Given the description of an element on the screen output the (x, y) to click on. 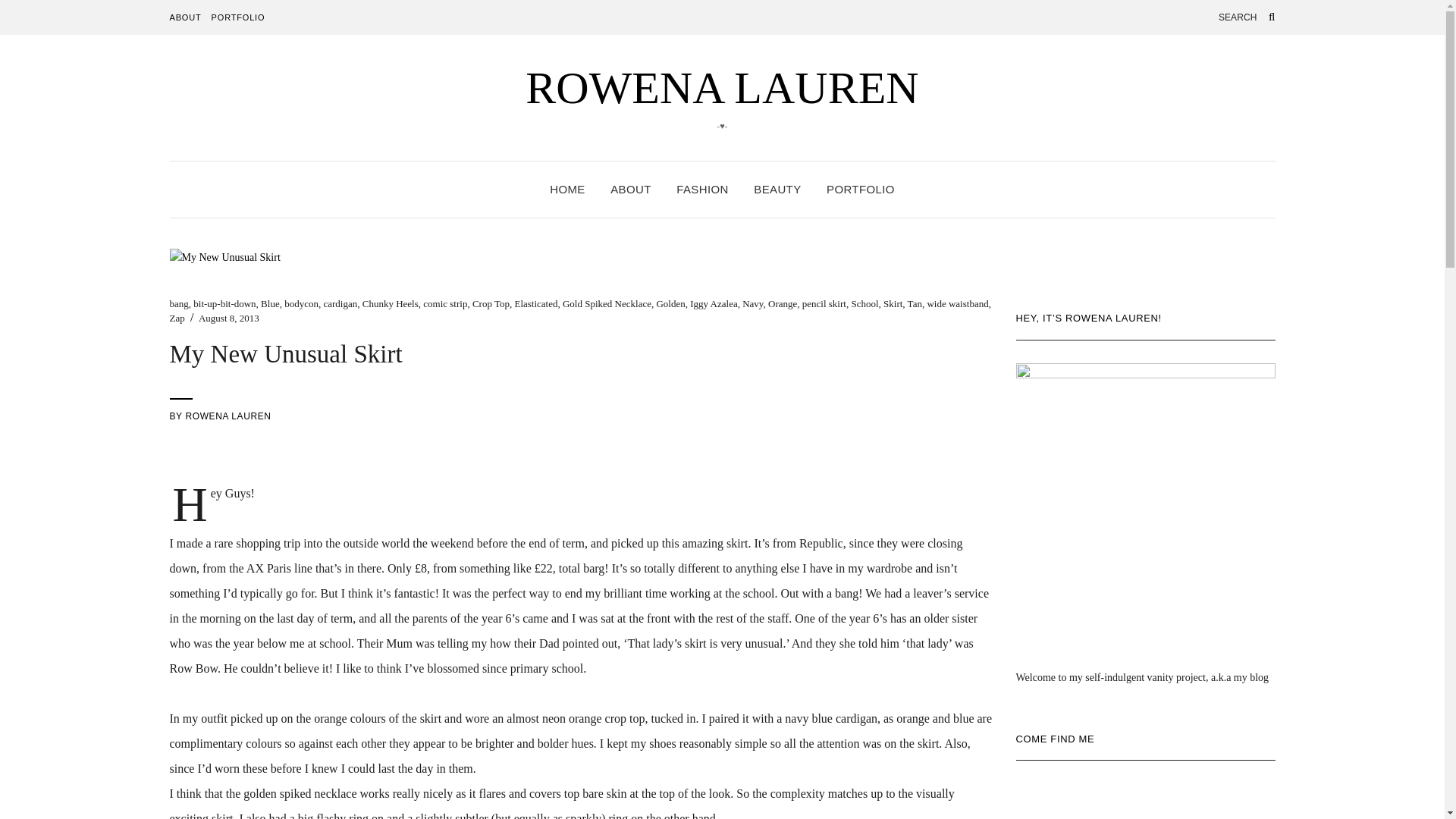
Gold Spiked Necklace (606, 303)
ABOUT (186, 17)
School (863, 303)
Navy (752, 303)
FASHION (702, 189)
Tan (914, 303)
Zap (177, 317)
bodycon (300, 303)
comic strip (445, 303)
Crop Top (490, 303)
